Given the description of an element on the screen output the (x, y) to click on. 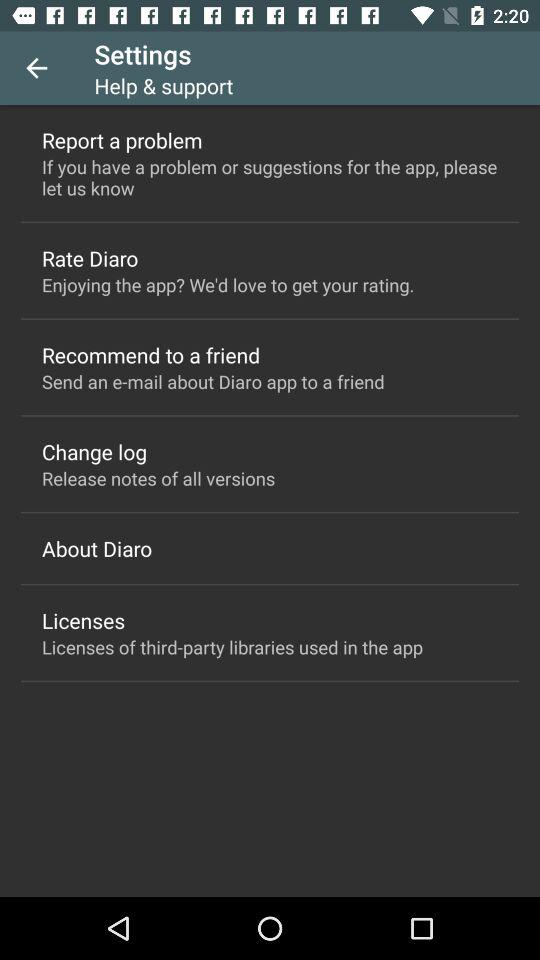
swipe to licenses of third item (232, 646)
